Given the description of an element on the screen output the (x, y) to click on. 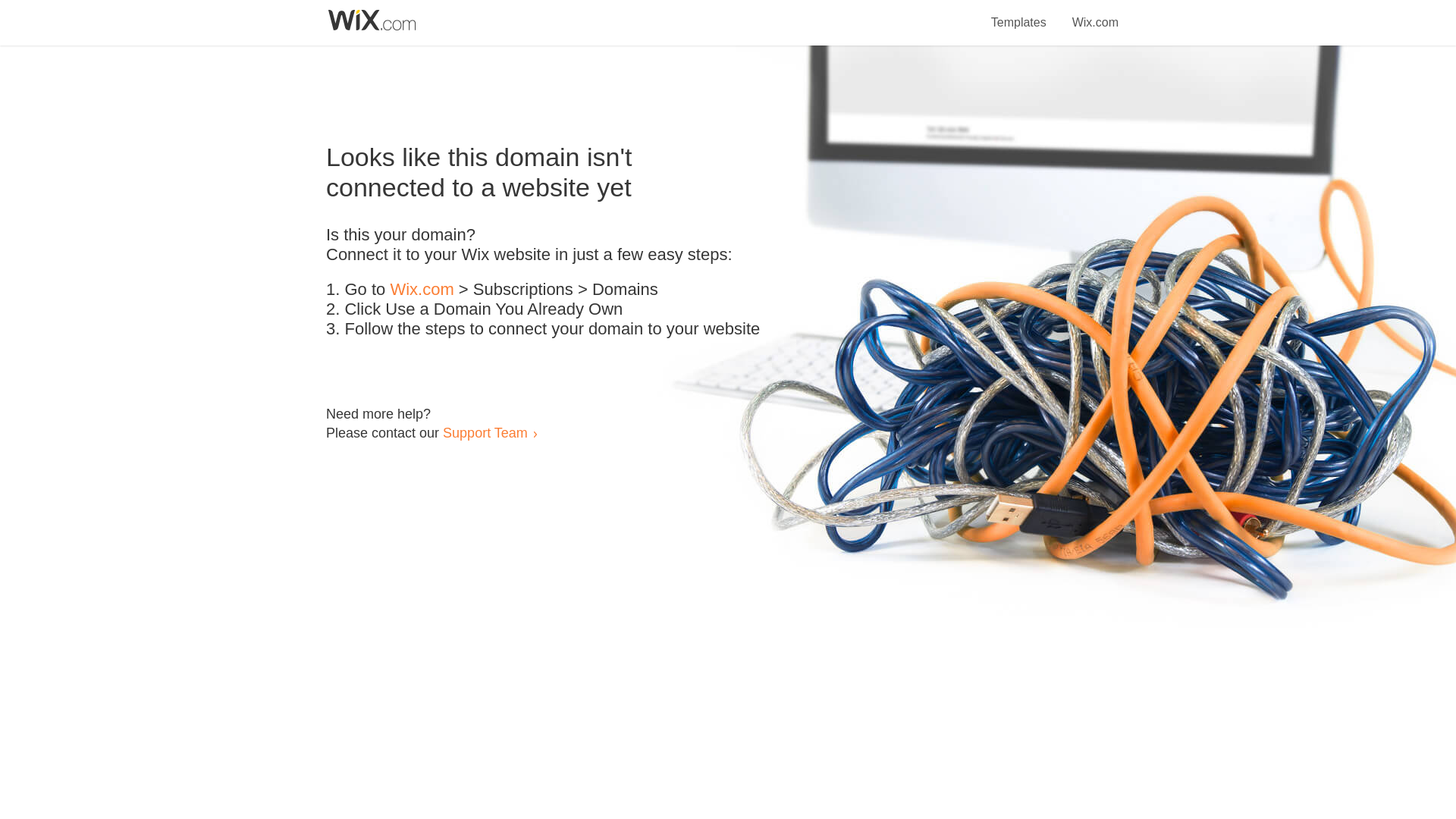
Support Team (484, 432)
Wix.com (1095, 14)
Wix.com (421, 289)
Templates (1018, 14)
